Given the description of an element on the screen output the (x, y) to click on. 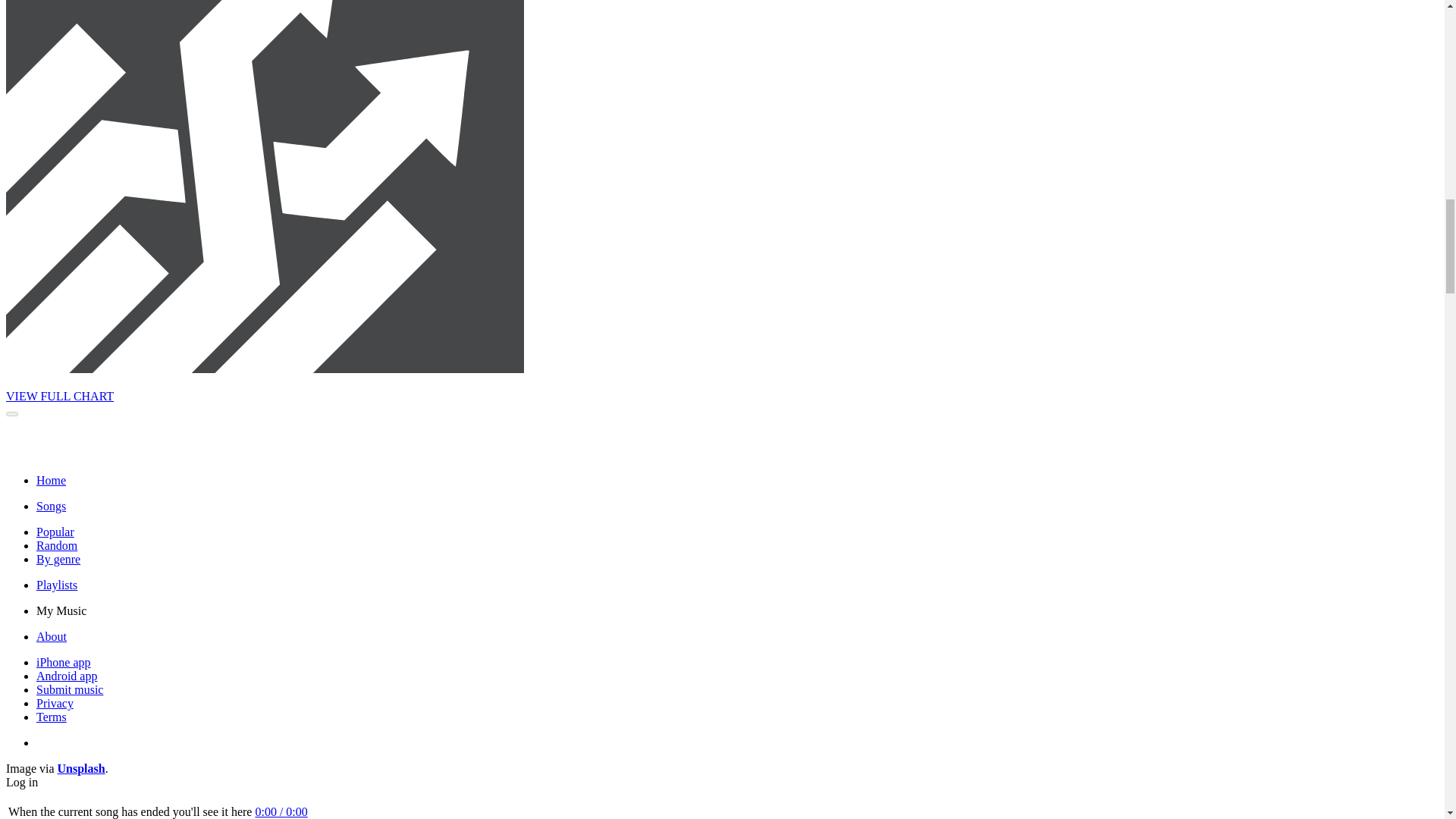
Android app (66, 675)
Privacy (55, 703)
New Songs (50, 505)
By genre (58, 558)
Random (56, 545)
Indie Shuffle Logo (66, 454)
Home (50, 480)
Download iPhone App (63, 662)
Download Android App (66, 675)
Terms (51, 716)
